Given the description of an element on the screen output the (x, y) to click on. 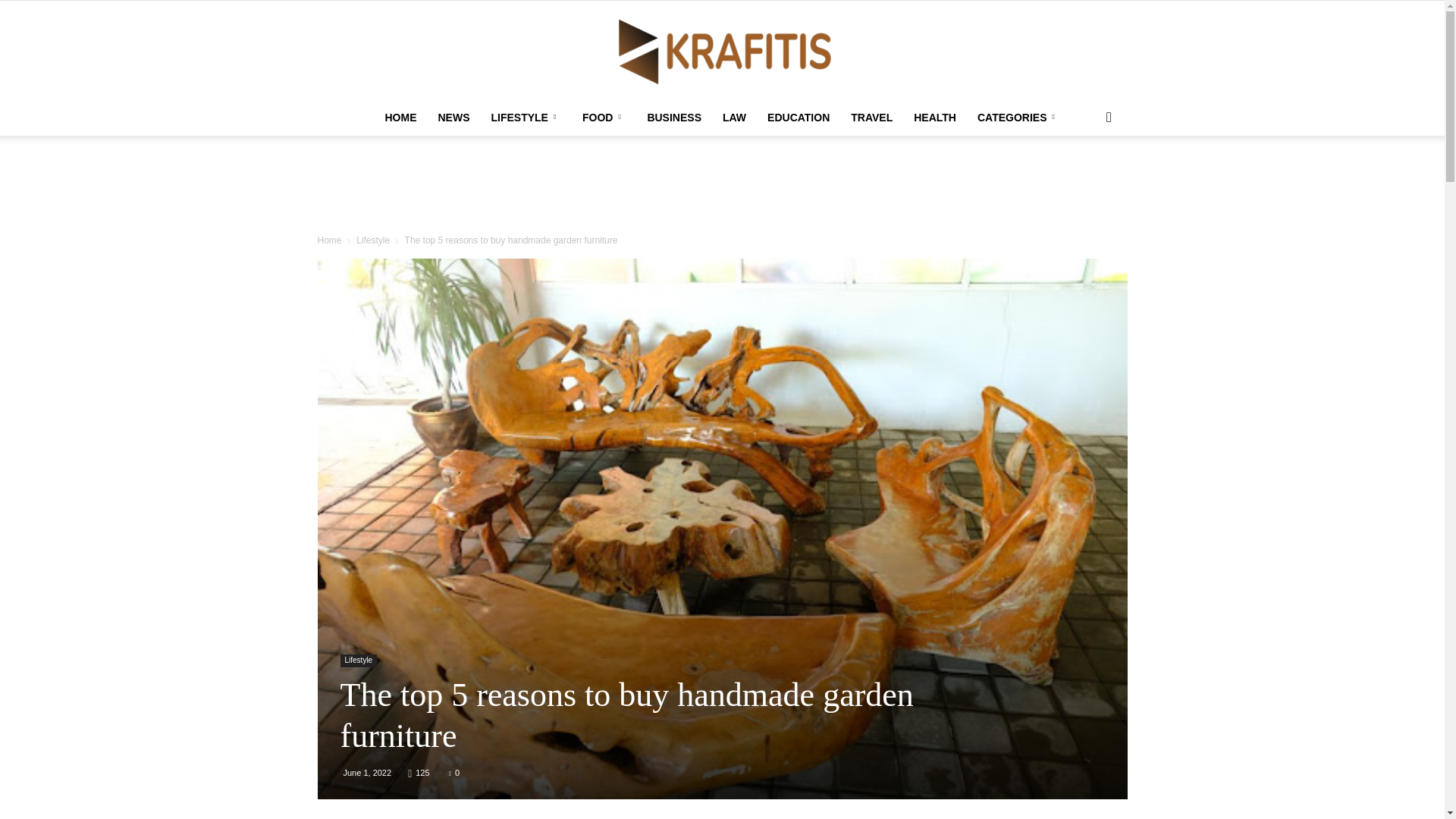
NEWS (453, 117)
HOME (400, 117)
Krafitis (721, 50)
LIFESTYLE (525, 117)
